Given the description of an element on the screen output the (x, y) to click on. 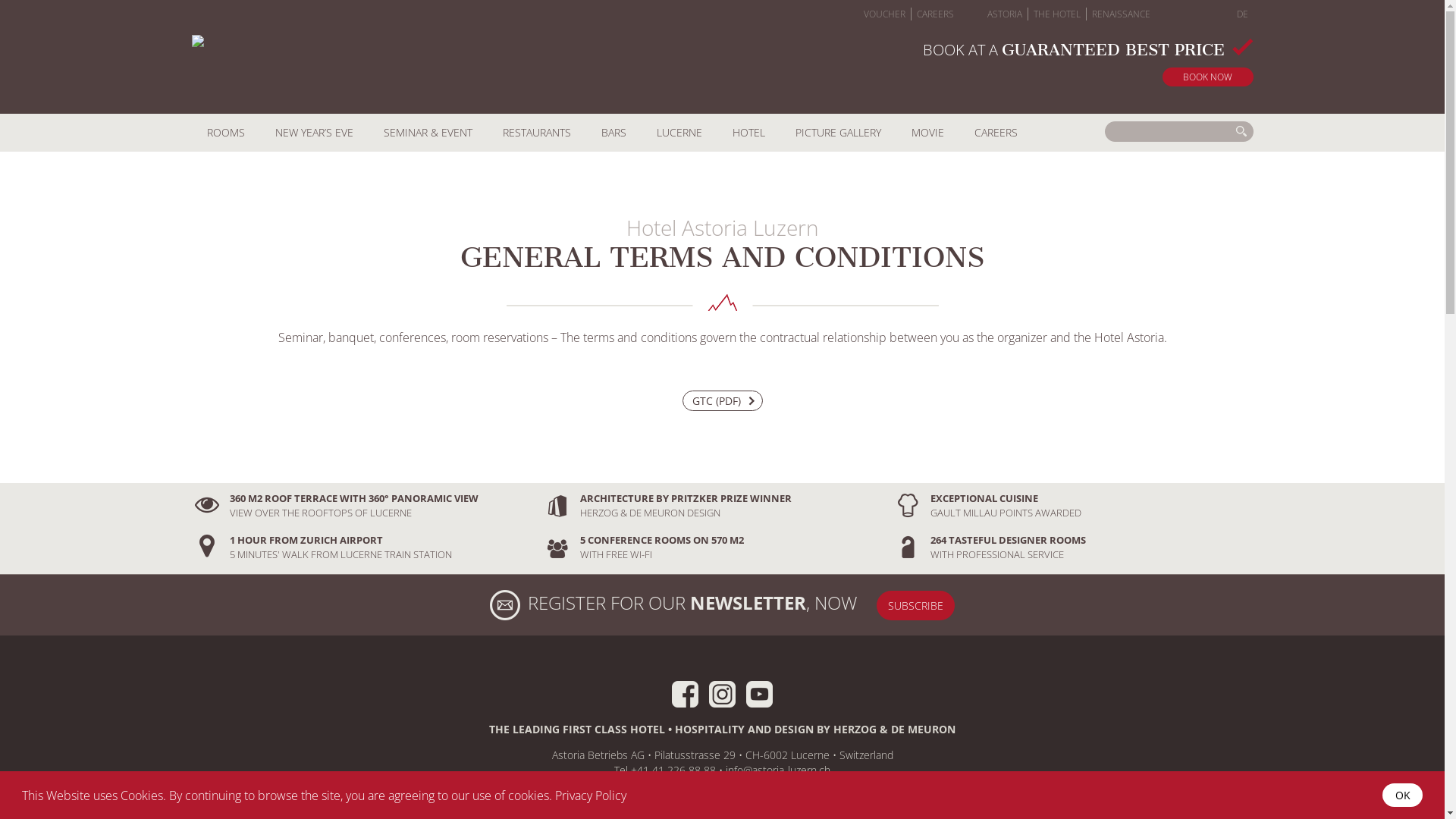
RESTAURANTS Element type: text (535, 132)
MOVIE Element type: text (927, 132)
DE Element type: text (1242, 13)
5 CONFERENCE ROOMS ON 570 M2
WITH FREE WI-FI Element type: text (716, 546)
CAREERS Element type: text (935, 13)
Privacy Policy Element type: text (590, 795)
OK Element type: text (1402, 794)
VOUCHER Element type: text (884, 13)
Home Element type: text (310, 59)
HOTEL Element type: text (748, 132)
ASTORIA Element type: text (1003, 13)
SUBSCRIBE Element type: text (915, 605)
SEMINAR & EVENT Element type: text (427, 132)
CAREERS Element type: text (995, 132)
book now Element type: text (1206, 76)
THE HOTEL Element type: text (1056, 13)
264 TASTEFUL DESIGNER ROOMS
WITH PROFESSIONAL SERVICE Element type: text (1066, 546)
GTC (PDF) Element type: text (722, 400)
BARS Element type: text (612, 132)
EXCEPTIONAL CUISINE
GAULT MILLAU POINTS AWARDED Element type: text (1066, 504)
suche Element type: text (1241, 131)
ROOMS Element type: text (225, 132)
RENAISSANCE Element type: text (1119, 13)
LUCERNE Element type: text (679, 132)
PICTURE GALLERY Element type: text (837, 132)
